Given the description of an element on the screen output the (x, y) to click on. 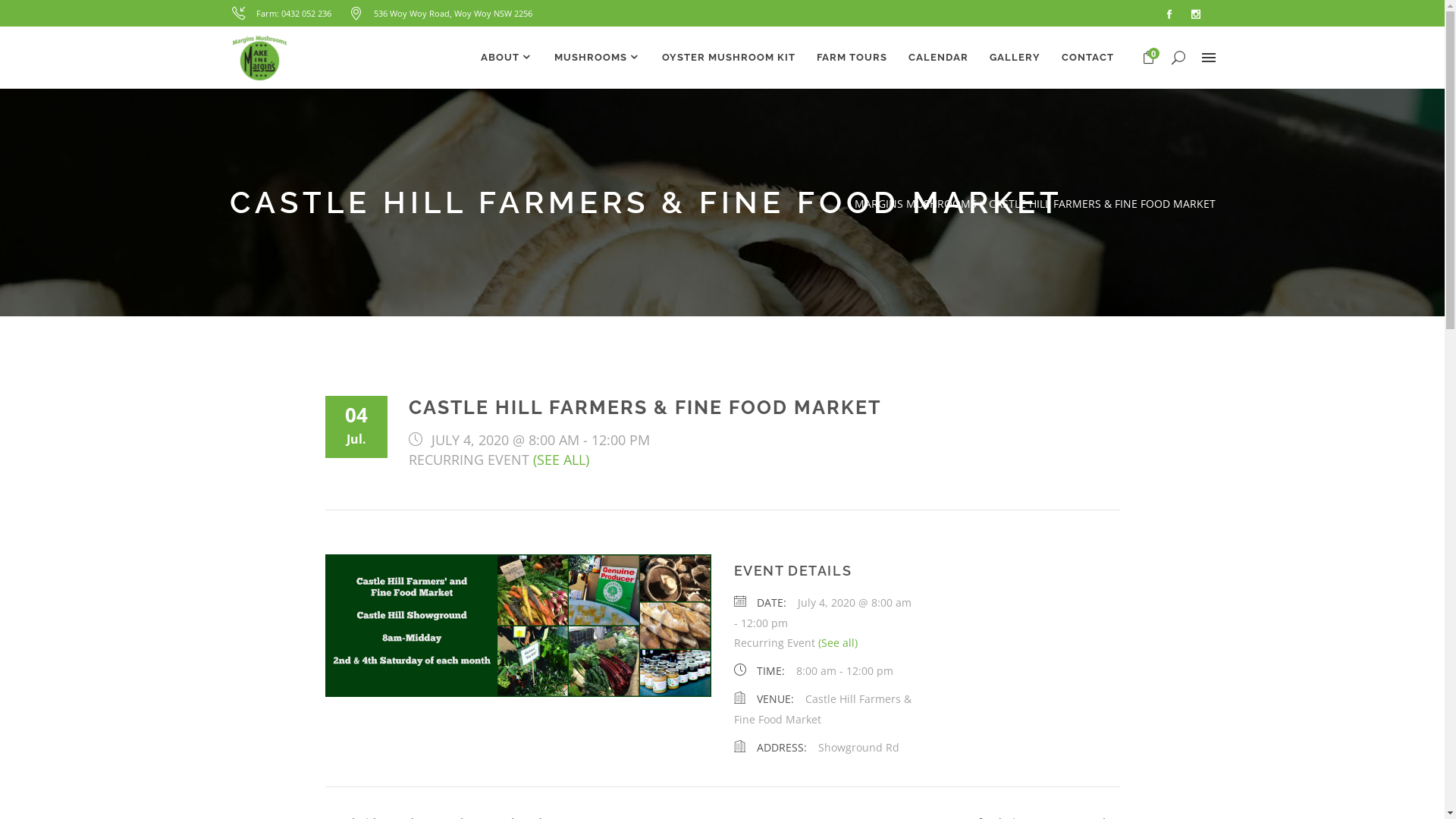
CONTACT Element type: text (1087, 57)
GALLERY Element type: text (1014, 57)
FARM TOURS Element type: text (851, 57)
(SEE ALL) Element type: text (560, 459)
MARGINS MUSHROOMS Element type: text (914, 203)
OYSTER MUSHROOM KIT Element type: text (727, 57)
CALENDAR Element type: text (938, 57)
MUSHROOMS Element type: text (596, 57)
ABOUT Element type: text (506, 57)
0 Element type: text (1148, 58)
(See all) Element type: text (836, 642)
